Given the description of an element on the screen output the (x, y) to click on. 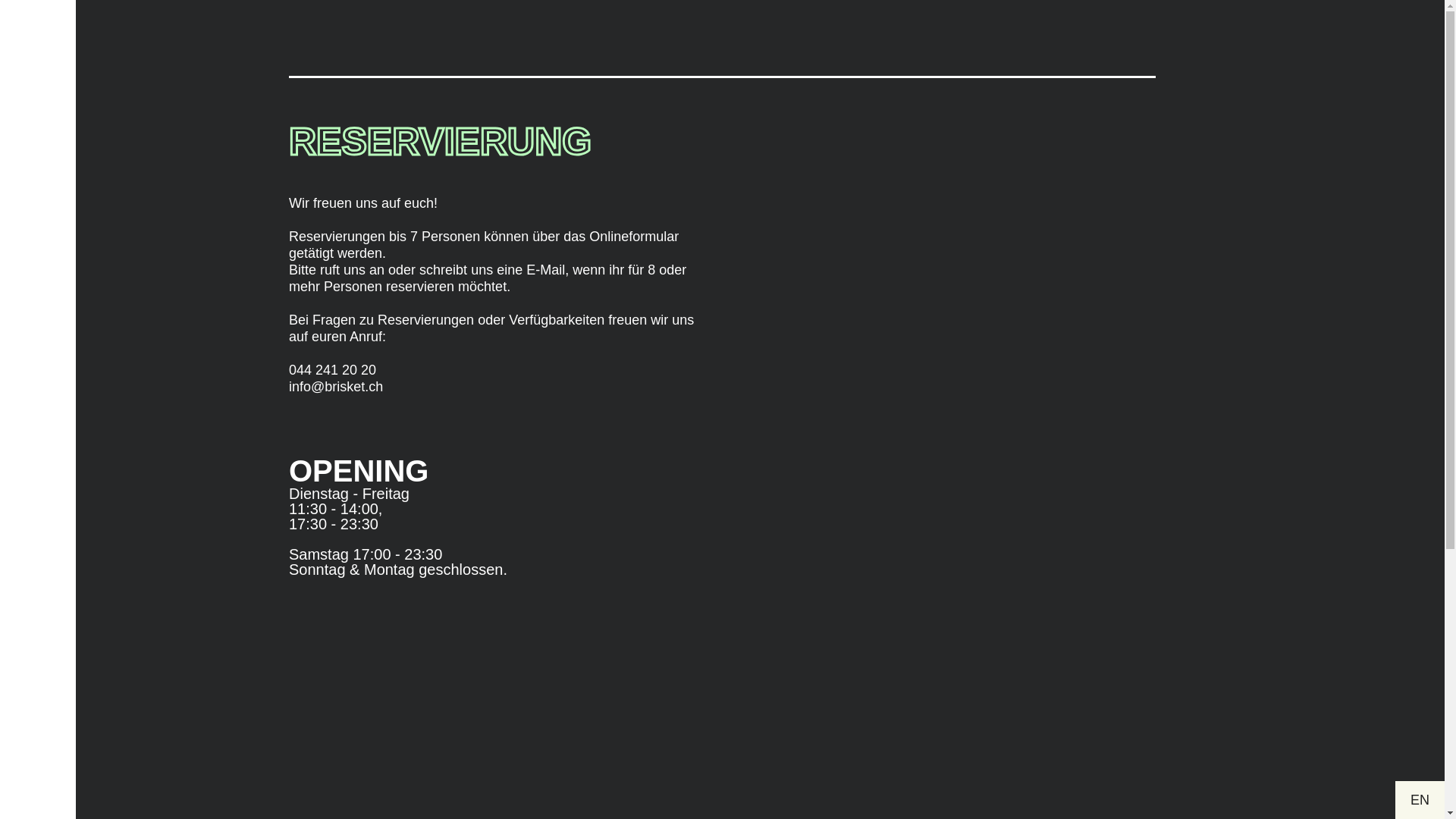
Embedded Content Element type: hover (941, 458)
